Given the description of an element on the screen output the (x, y) to click on. 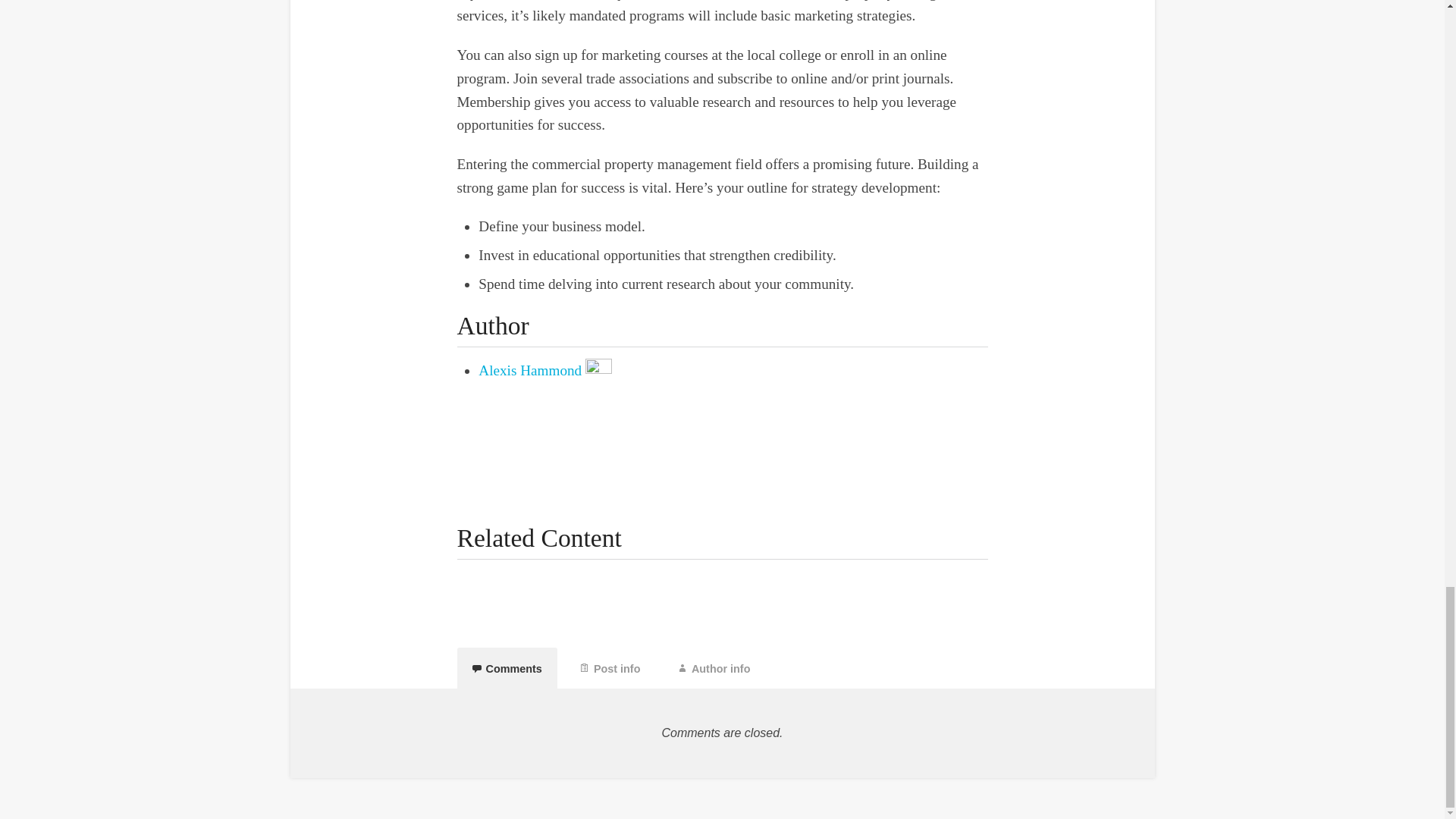
Post info (610, 667)
Alexis Hammond (529, 370)
Comments (506, 667)
Author info (713, 667)
